Given the description of an element on the screen output the (x, y) to click on. 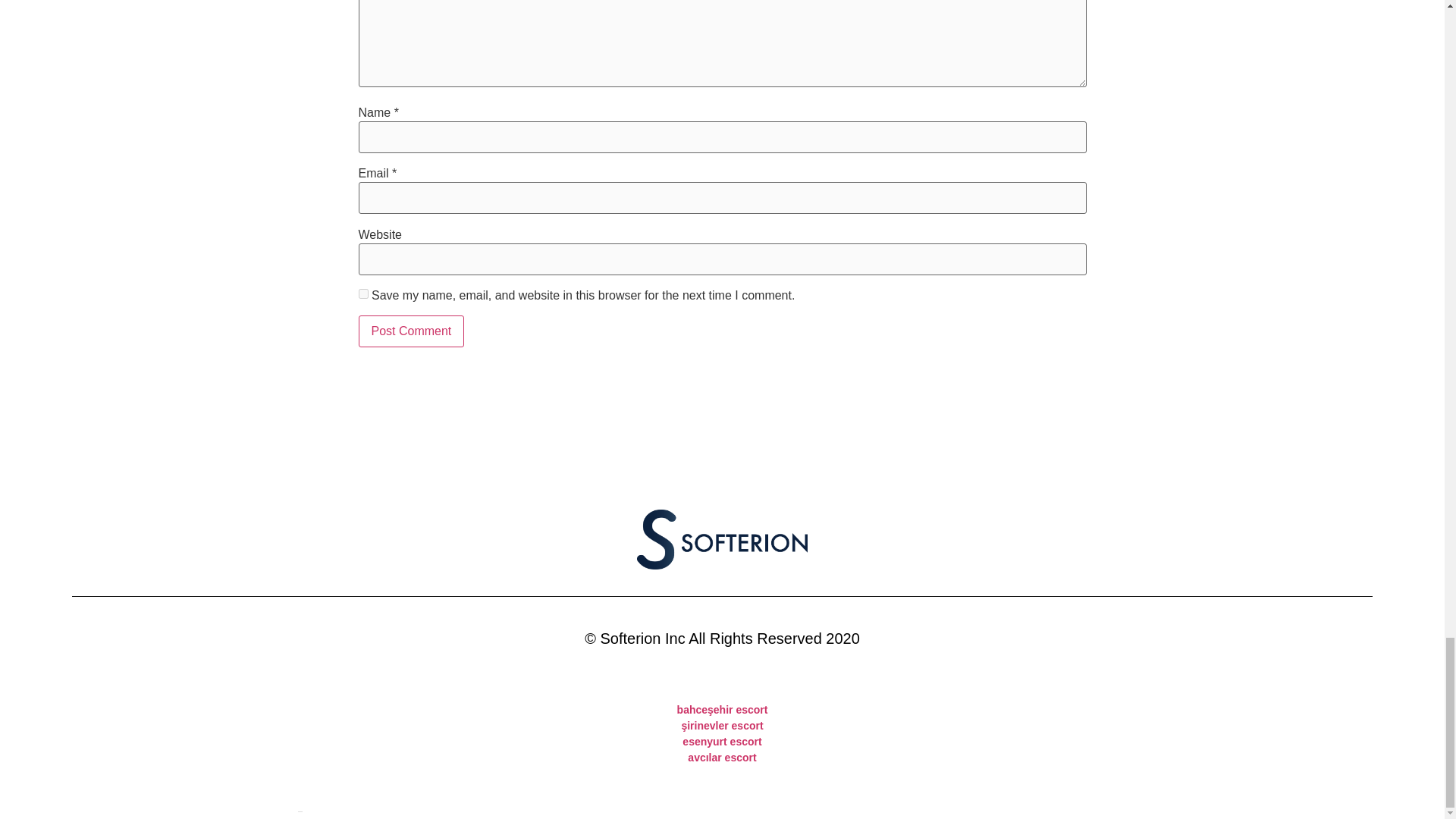
esenyurt escort (721, 741)
Post Comment (411, 331)
Post Comment (411, 331)
esenyurt escort (721, 741)
yes (363, 293)
